Given the description of an element on the screen output the (x, y) to click on. 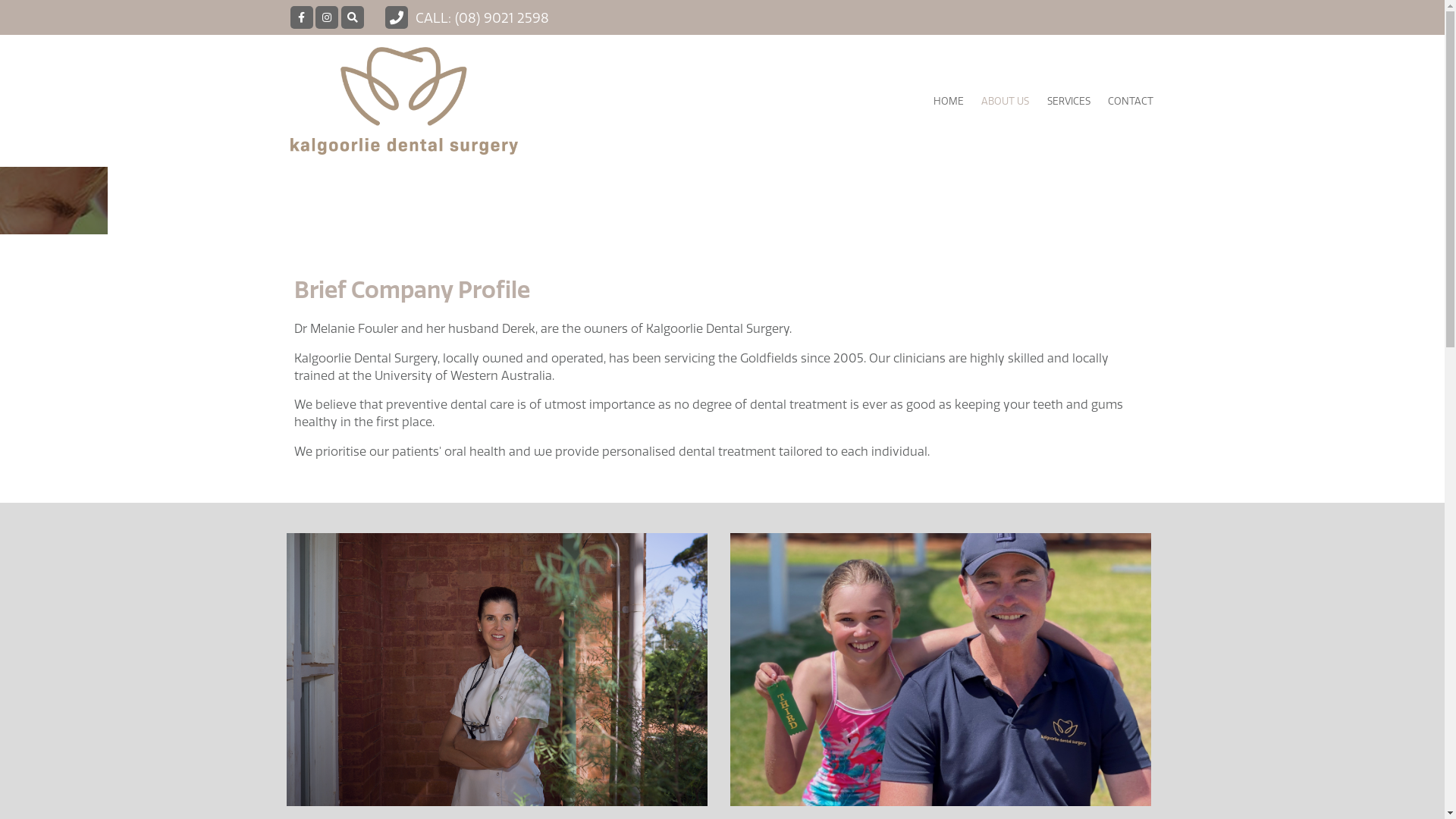
HOME Element type: text (948, 100)
Kalgoorlie Dental Surgery Element type: hover (425, 100)
ABOUT US Element type: text (1005, 100)
SERVICES Element type: text (1068, 100)
CONTACT Element type: text (1130, 100)
CALL: (08) 9021 2598 Element type: text (465, 17)
